Given the description of an element on the screen output the (x, y) to click on. 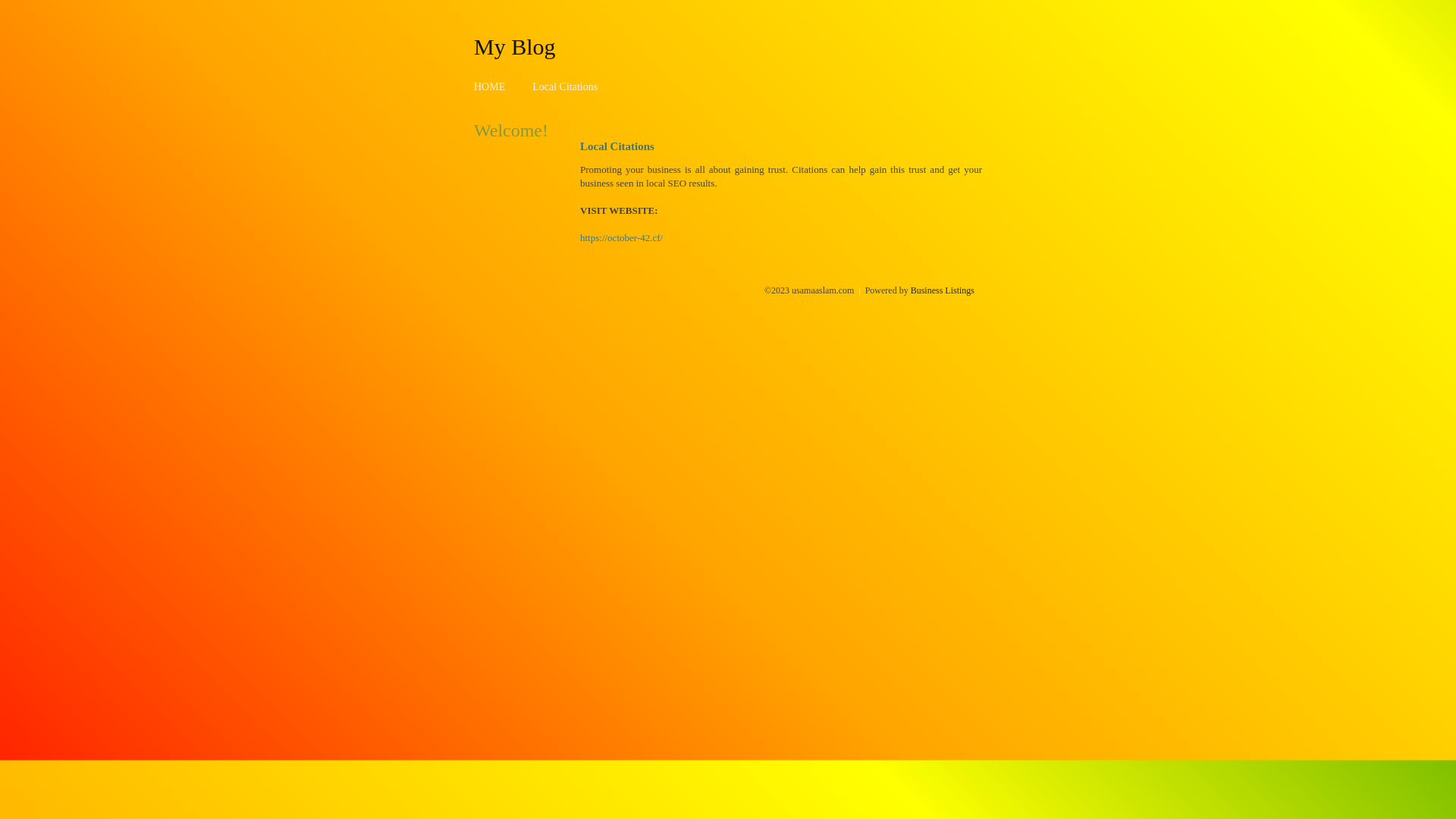
HOME Element type: text (489, 86)
Local Citations Element type: text (564, 86)
https://october-42.cf/ Element type: text (621, 237)
My Blog Element type: text (514, 46)
Business Listings Element type: text (942, 290)
